Given the description of an element on the screen output the (x, y) to click on. 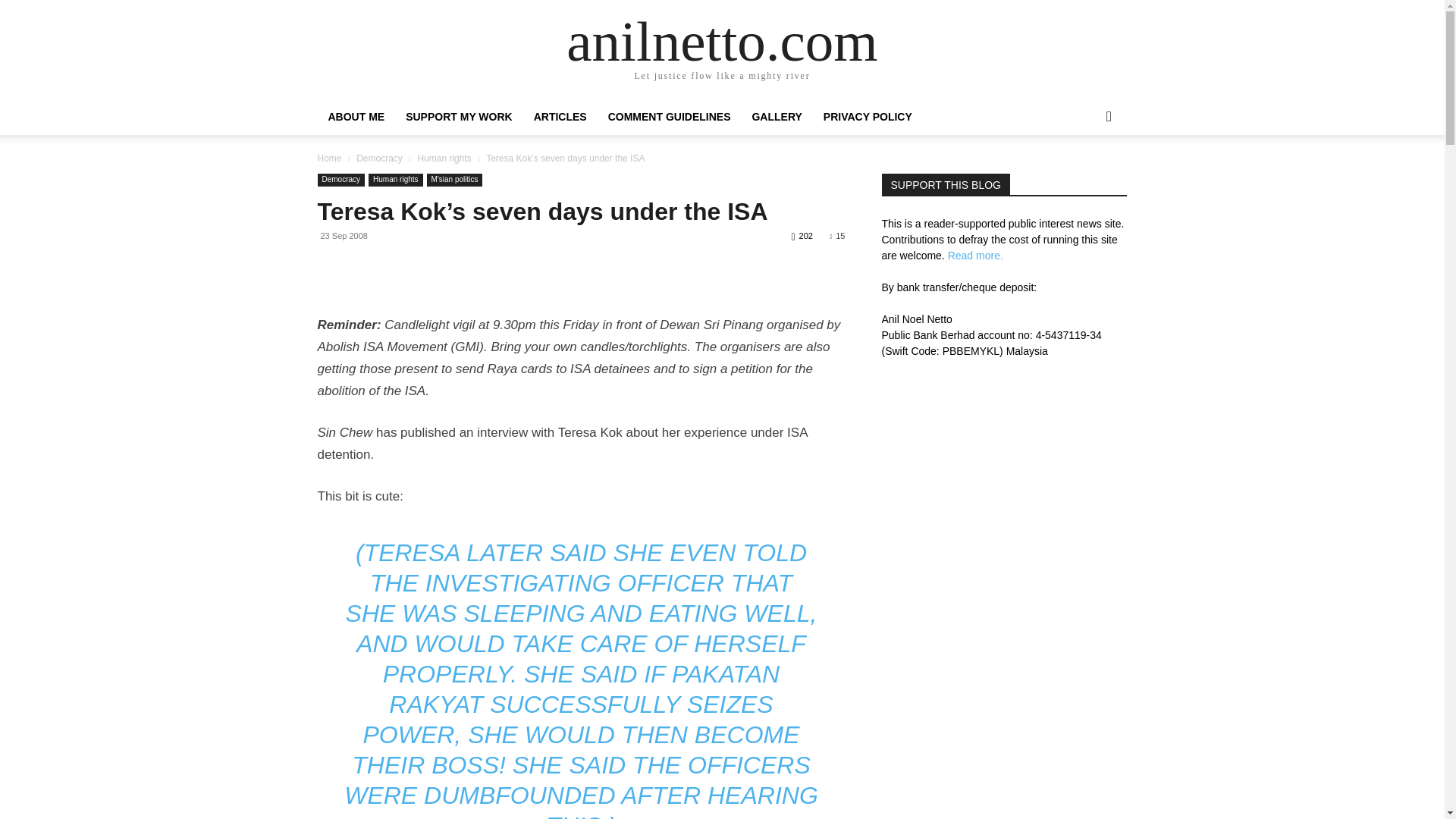
PRIVACY POLICY (867, 116)
Search (1085, 177)
Home (328, 158)
Democracy (341, 179)
View all posts in Human rights (443, 158)
COMMENT GUIDELINES (668, 116)
GALLERY (776, 116)
Human rights (443, 158)
ARTICLES (559, 116)
SUPPORT MY WORK (458, 116)
